Given the description of an element on the screen output the (x, y) to click on. 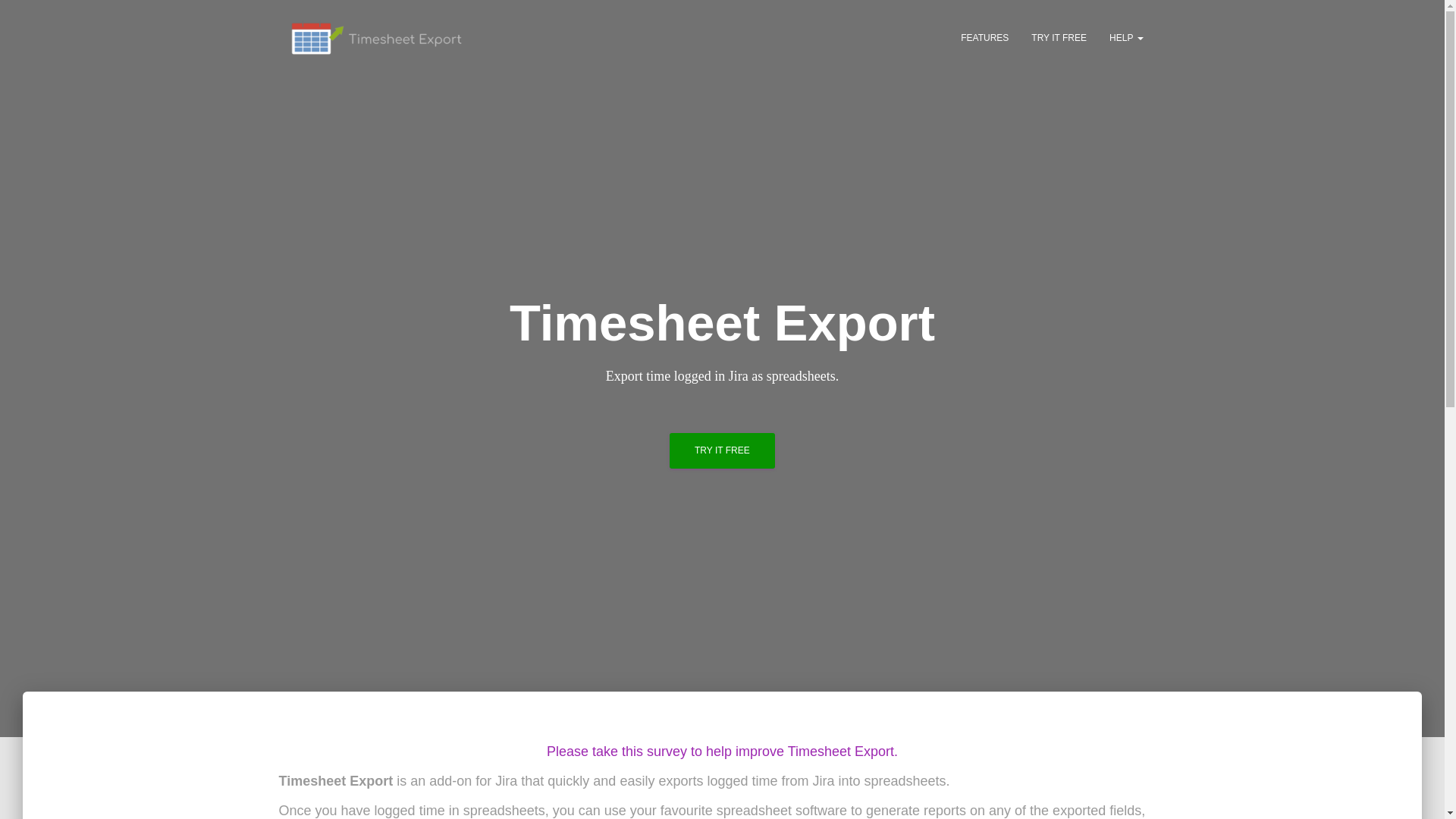
Timesheet Export (376, 37)
TRY IT FREE (1058, 37)
Try it free (721, 450)
Please take this survey to help improve Timesheet Export. (722, 751)
FEATURES (984, 37)
Try it free (1058, 37)
Help (1125, 37)
HELP (1125, 37)
Features (984, 37)
TRY IT FREE (721, 450)
